Given the description of an element on the screen output the (x, y) to click on. 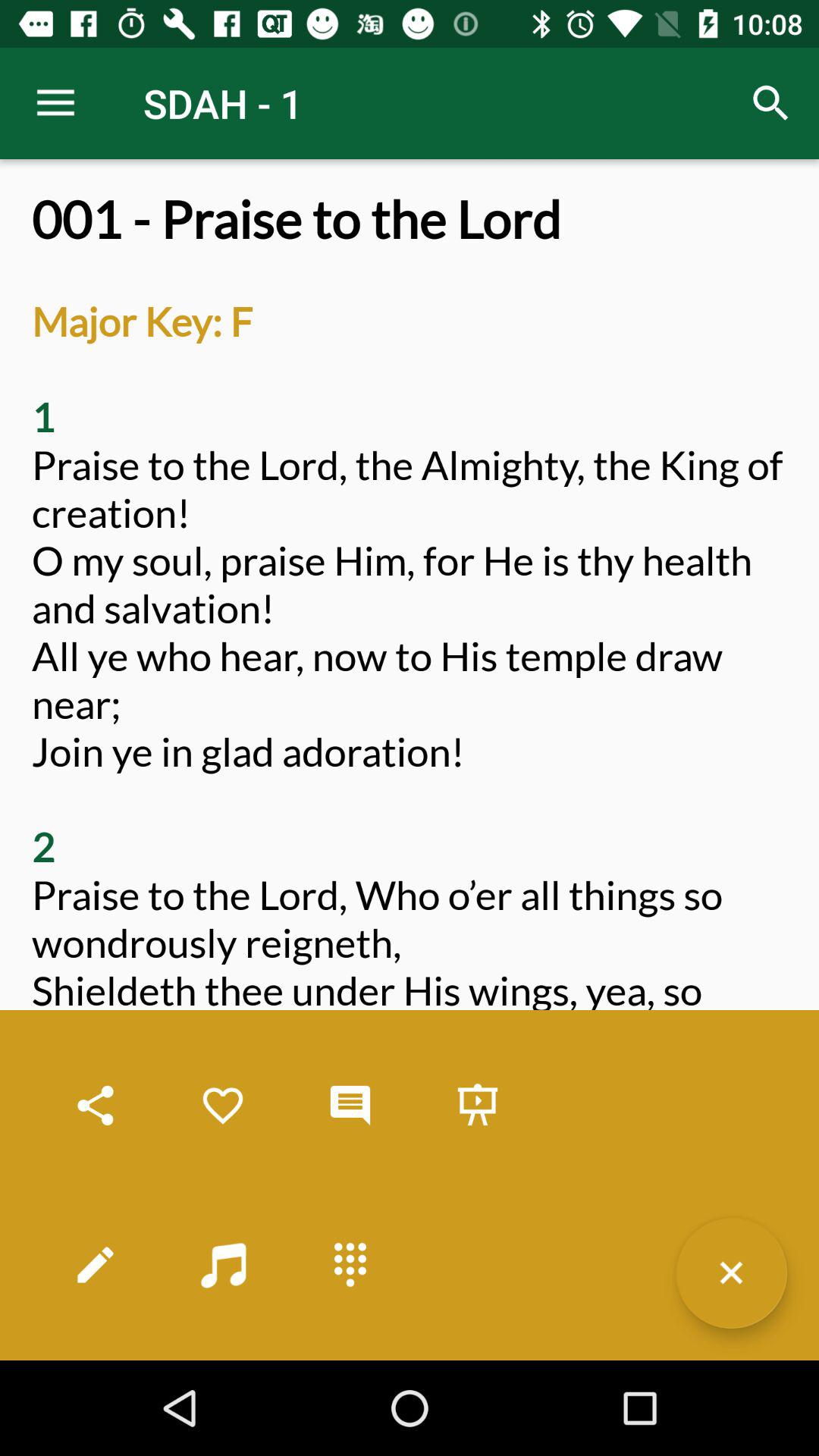
click that option (477, 1105)
